Given the description of an element on the screen output the (x, y) to click on. 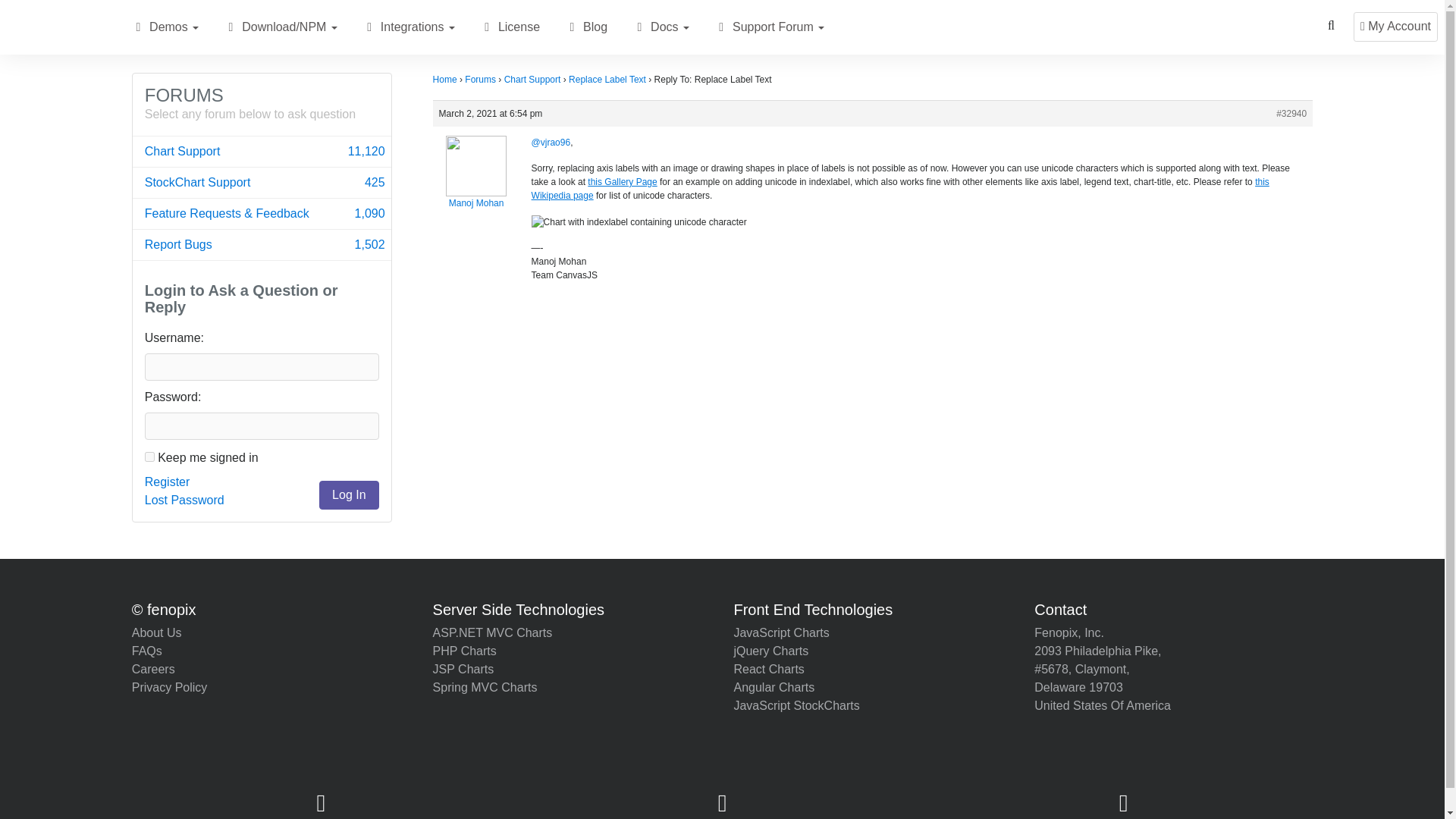
Docs (261, 245)
Report Bugs (639, 27)
Integrations (261, 102)
Download (261, 245)
CanvasJS Charts with Index Label (408, 27)
Chart Support (230, 27)
CanvasJS (622, 181)
Docs (261, 151)
